Given the description of an element on the screen output the (x, y) to click on. 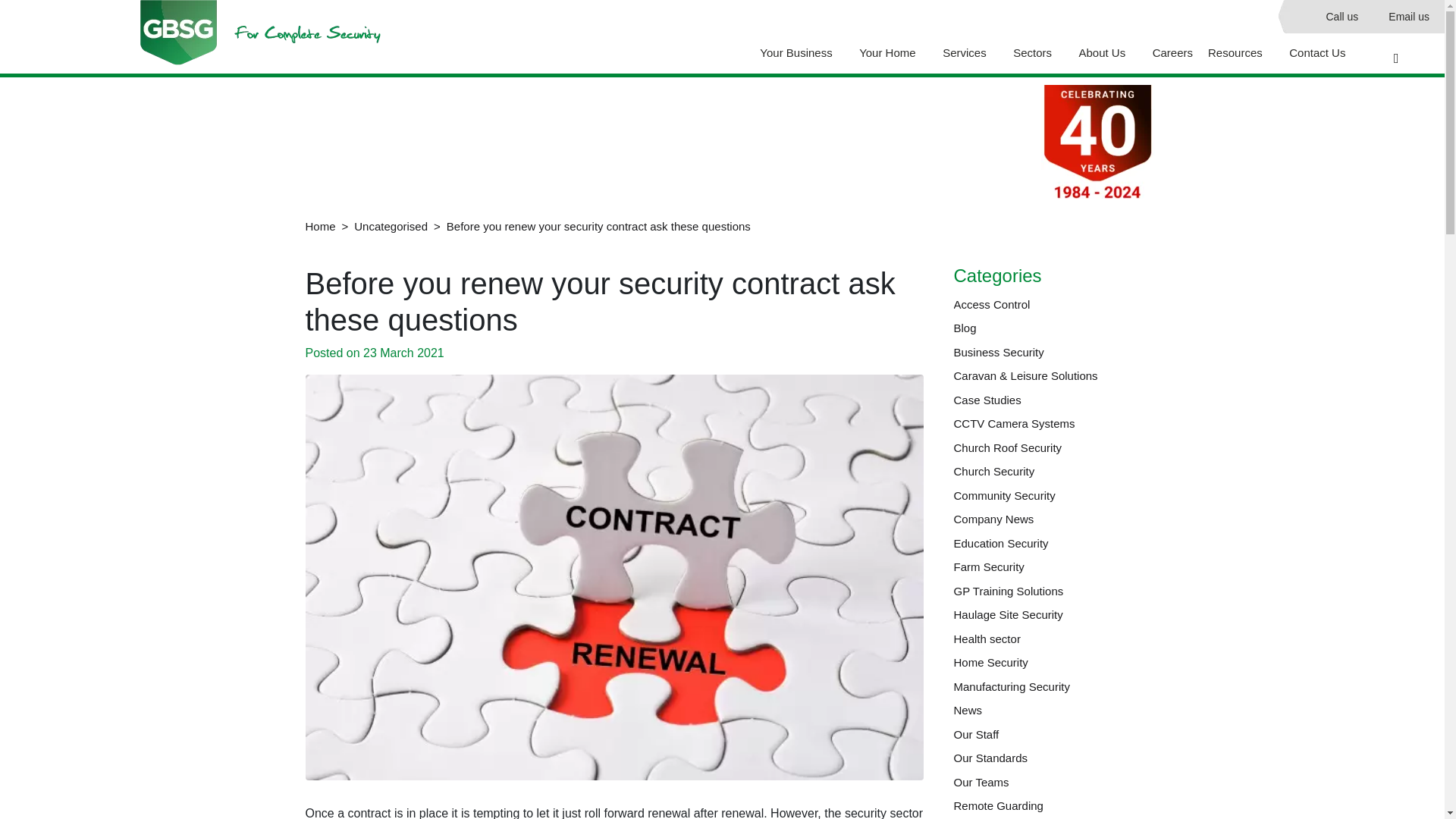
Your Home (892, 52)
Sectors (1038, 52)
Your Business (801, 52)
Call us (1341, 16)
Services (970, 52)
